Given the description of an element on the screen output the (x, y) to click on. 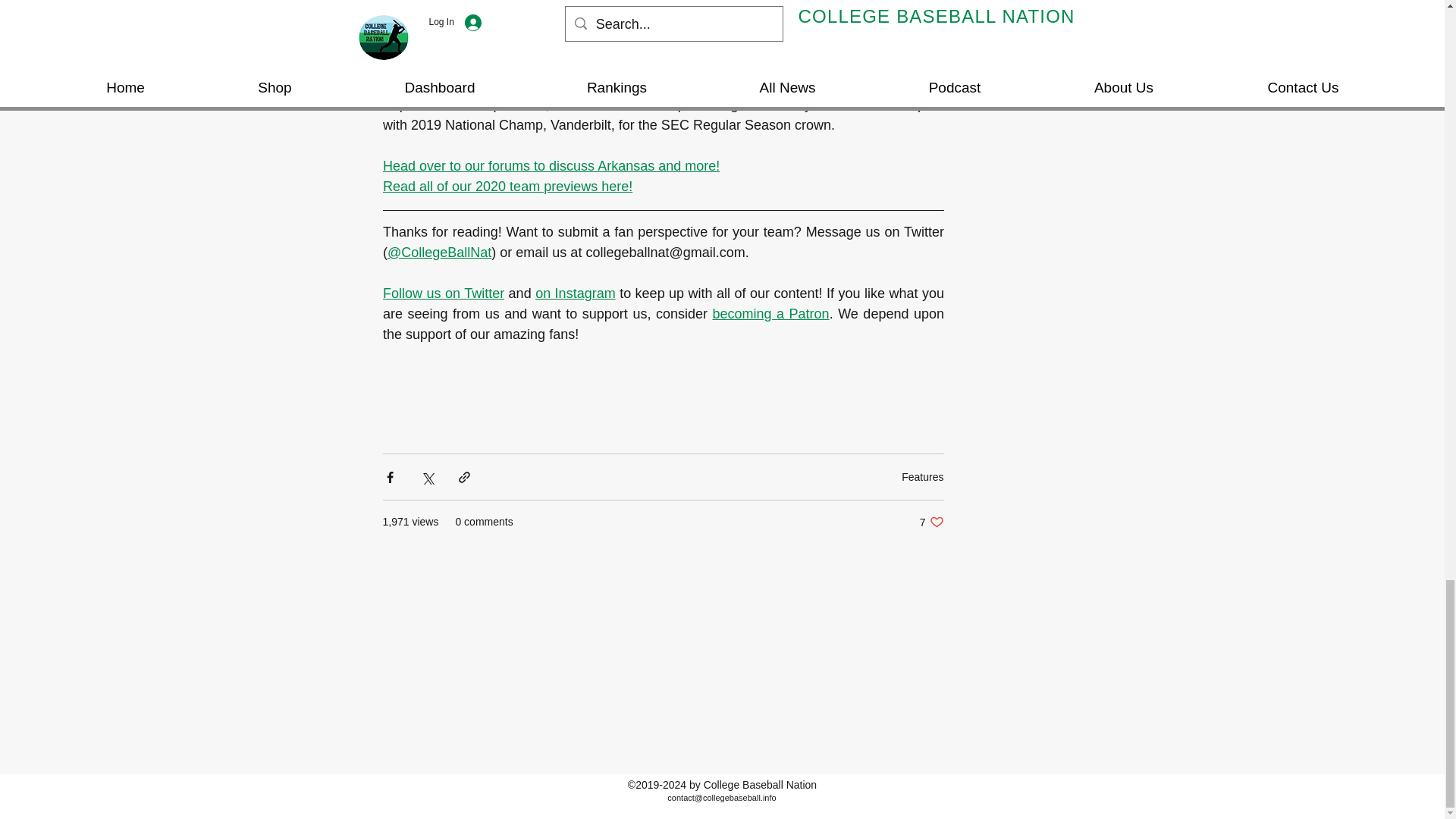
Follow us on Twitter (442, 293)
Head over to our forums to discuss Arkansas and more! (550, 165)
becoming a Patron (769, 313)
Read all of our 2020 team previews here! (506, 186)
Features (931, 522)
on Instagram (922, 476)
